Given the description of an element on the screen output the (x, y) to click on. 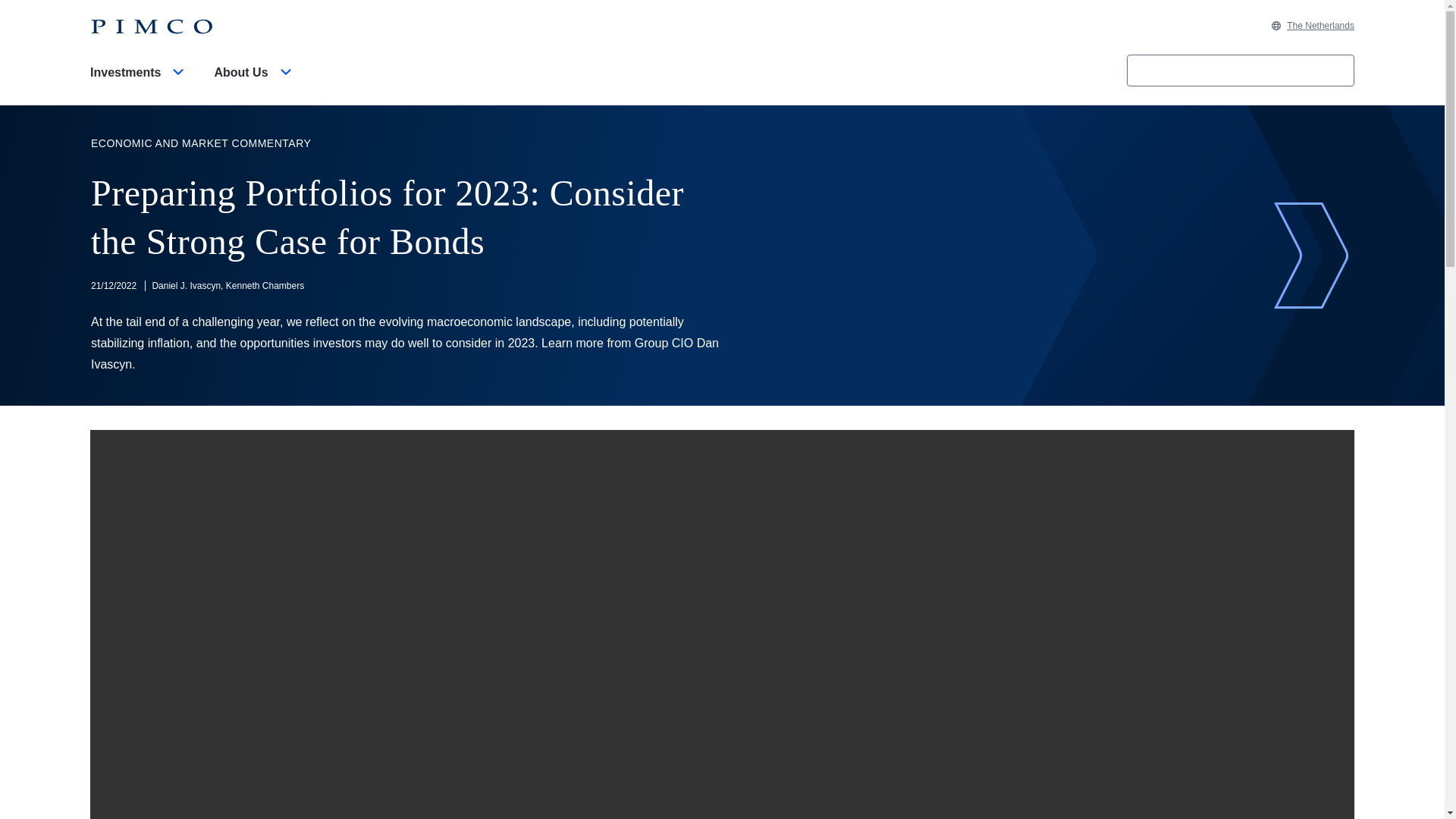
About Us (255, 84)
PIMCO Home (151, 27)
Investments (139, 84)
The Netherlands (1312, 25)
